Given the description of an element on the screen output the (x, y) to click on. 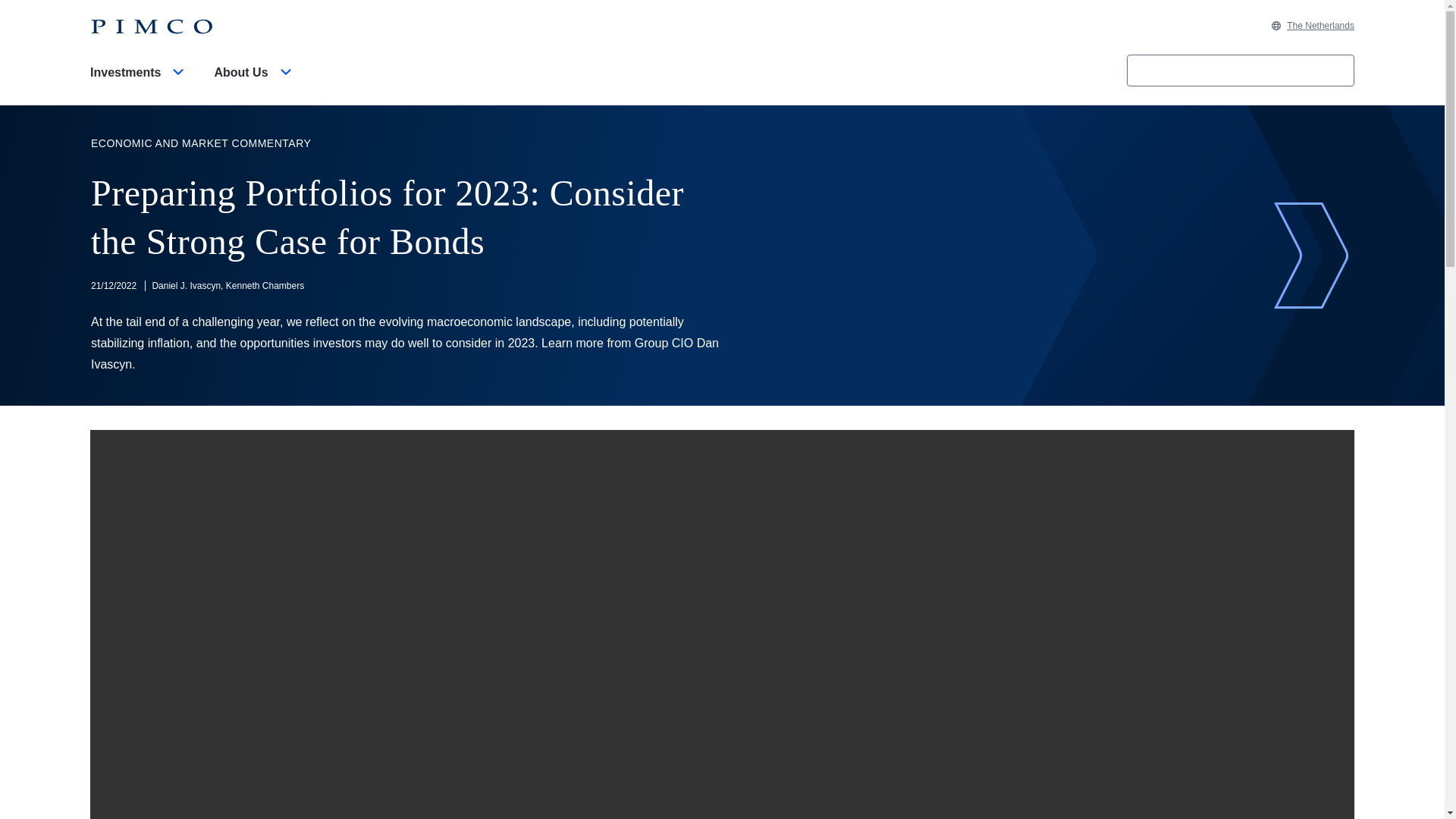
About Us (255, 84)
PIMCO Home (151, 27)
Investments (139, 84)
The Netherlands (1312, 25)
